Given the description of an element on the screen output the (x, y) to click on. 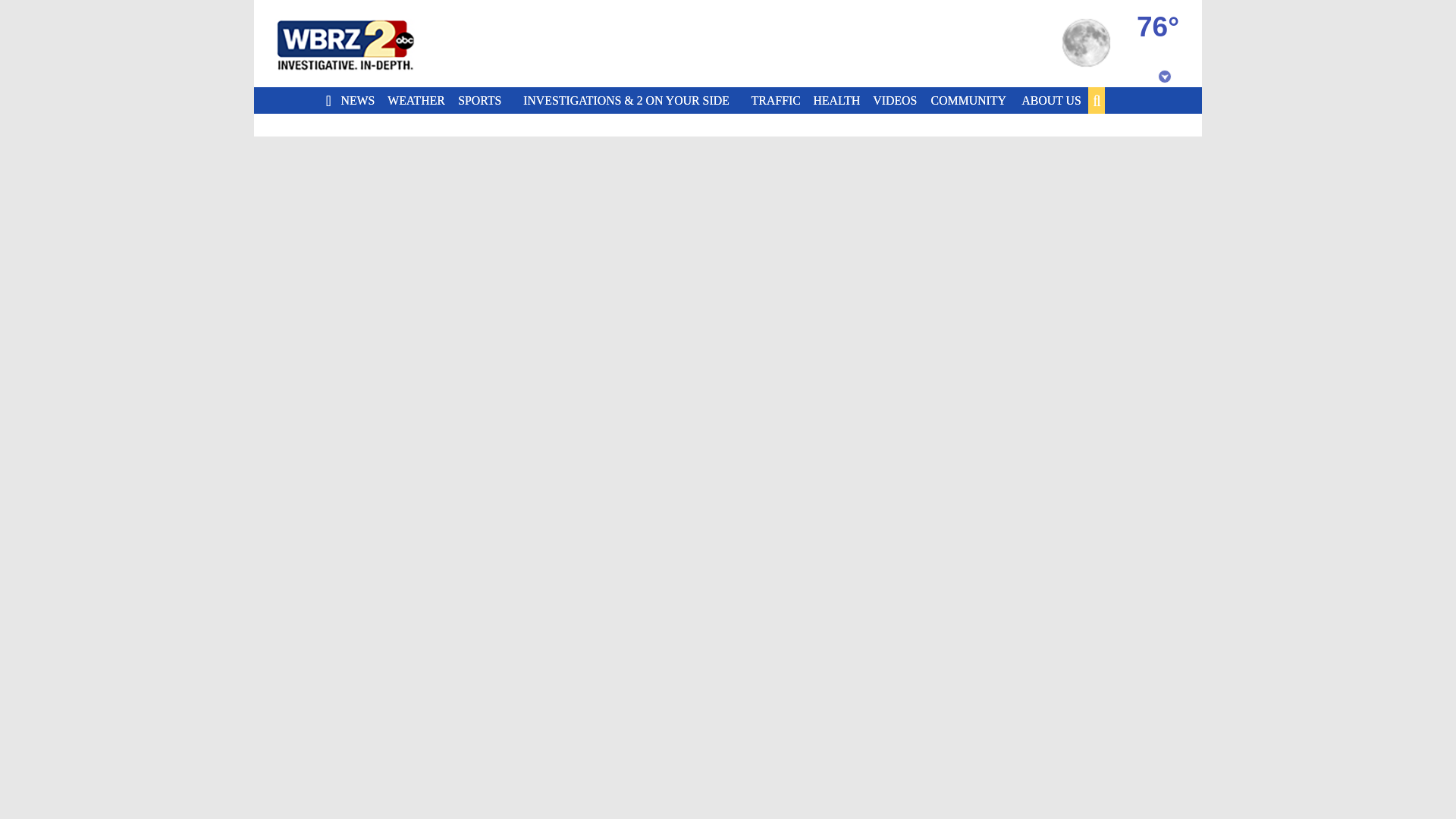
SPORTS (482, 100)
NEWS (359, 100)
Home (363, 43)
WEATHER (419, 100)
HEALTH (838, 100)
VIDEOS (896, 100)
TRAFFIC (778, 100)
